Given the description of an element on the screen output the (x, y) to click on. 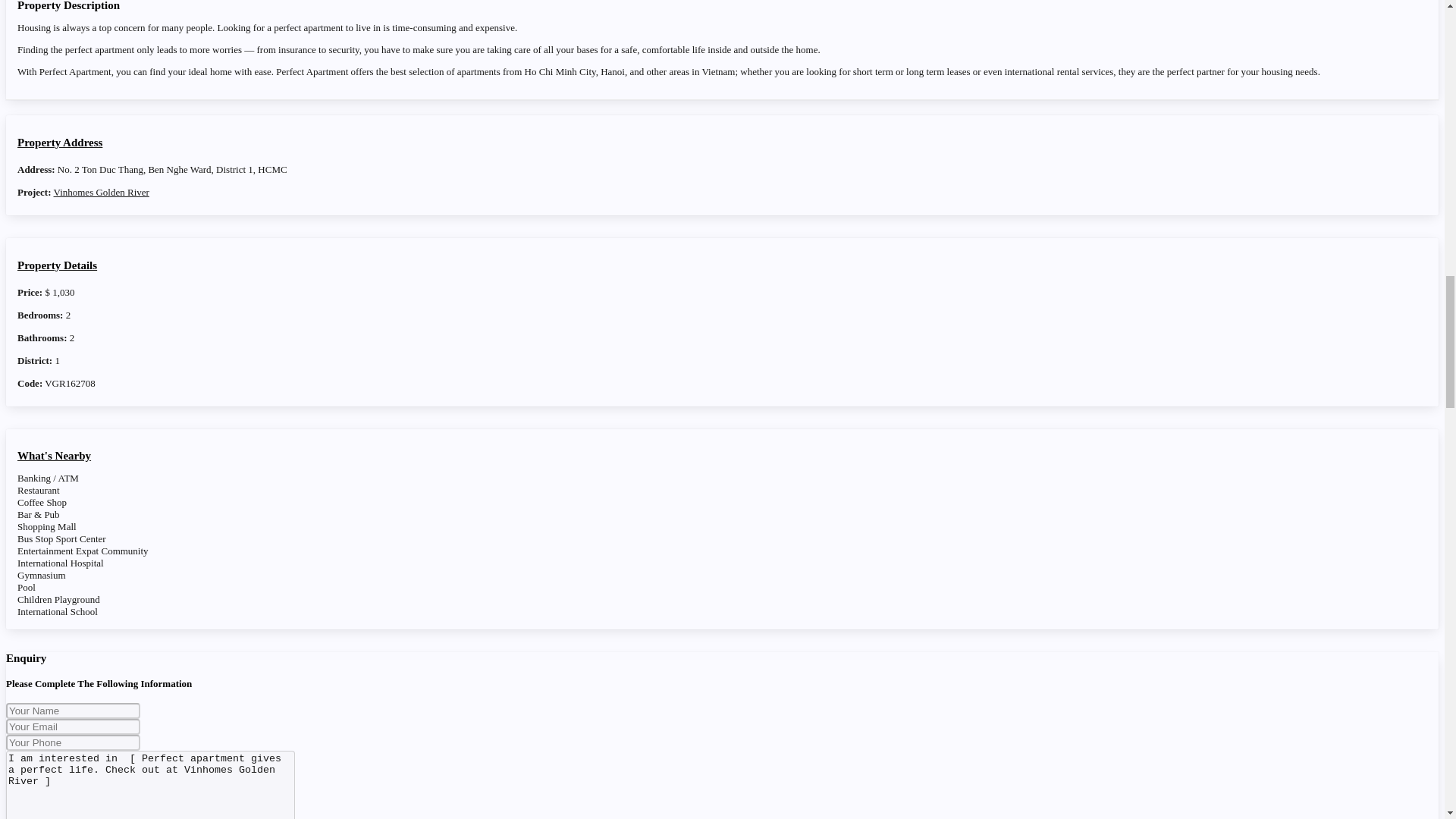
Vinhomes Golden River (101, 192)
